Given the description of an element on the screen output the (x, y) to click on. 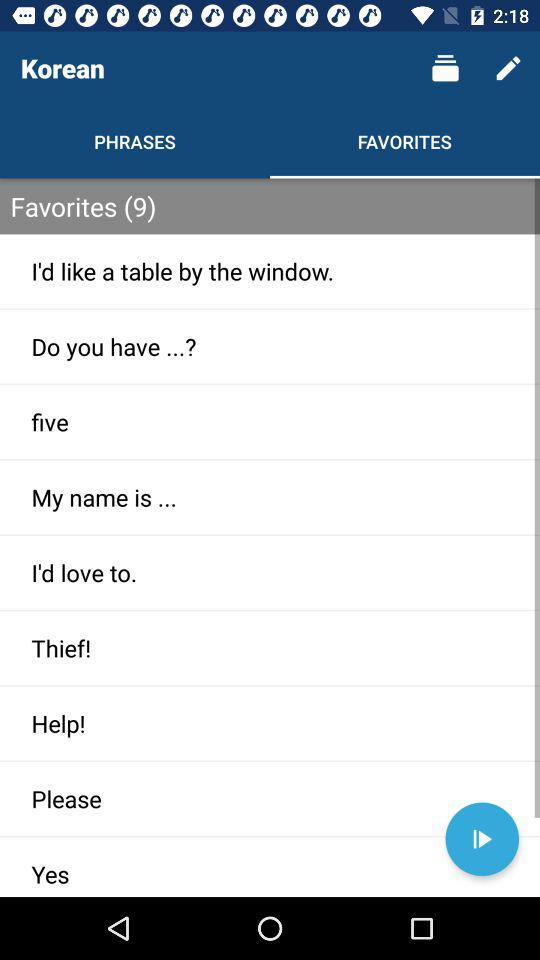
play word or phrase (482, 839)
